Given the description of an element on the screen output the (x, y) to click on. 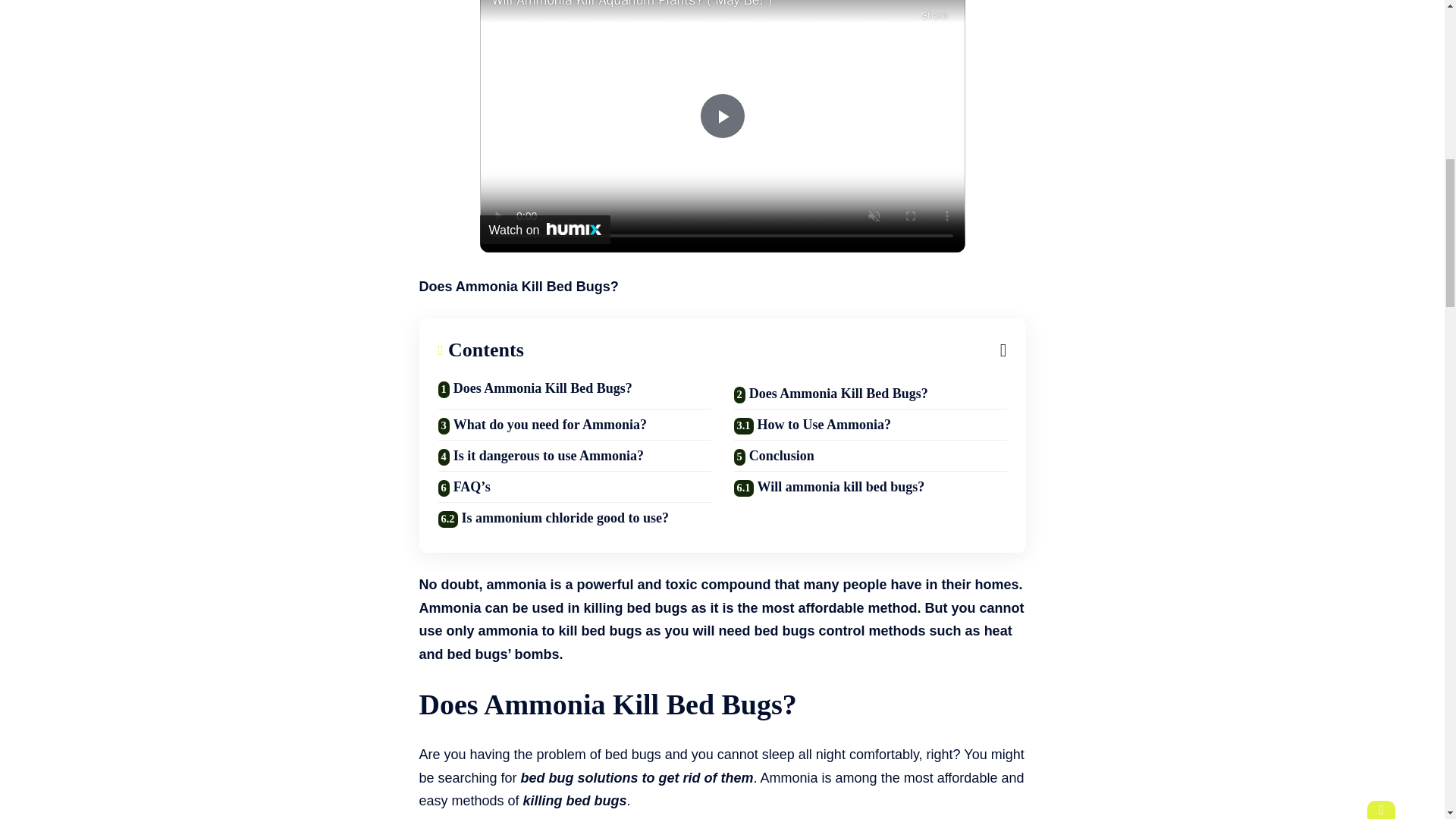
Play Video (721, 115)
share (933, 12)
